Given the description of an element on the screen output the (x, y) to click on. 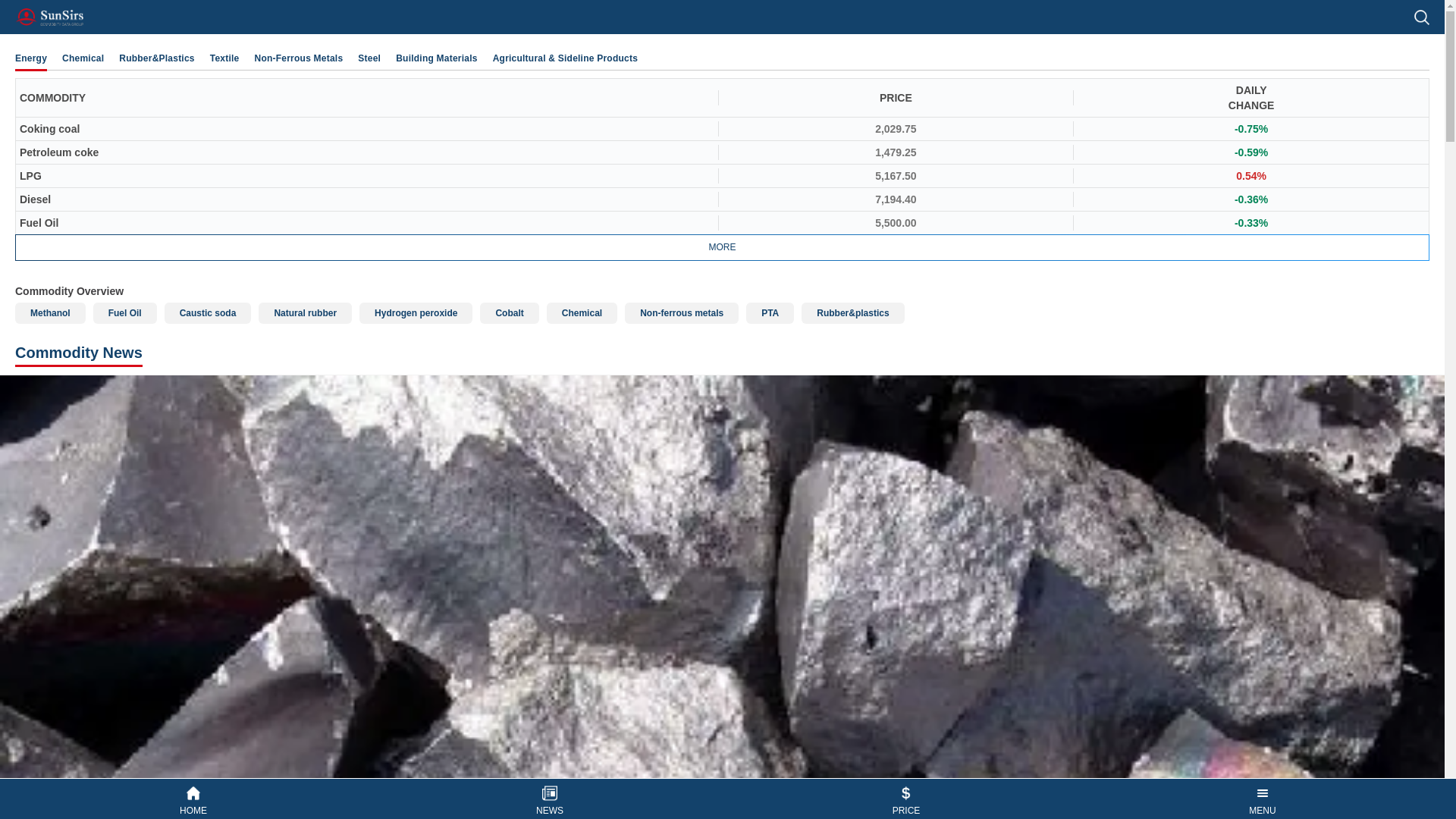
MORE (722, 247)
Non-ferrous metals (681, 312)
Building Materials (436, 58)
Caustic soda (207, 312)
Textile (224, 58)
Hydrogen peroxide (415, 312)
Energy (30, 58)
Natural rubber (305, 312)
Non-Ferrous Metals (298, 58)
Cobalt (509, 312)
PTA (769, 312)
Fuel Oil (125, 312)
Chemical (582, 312)
Methanol (49, 312)
Chemical (82, 58)
